Given the description of an element on the screen output the (x, y) to click on. 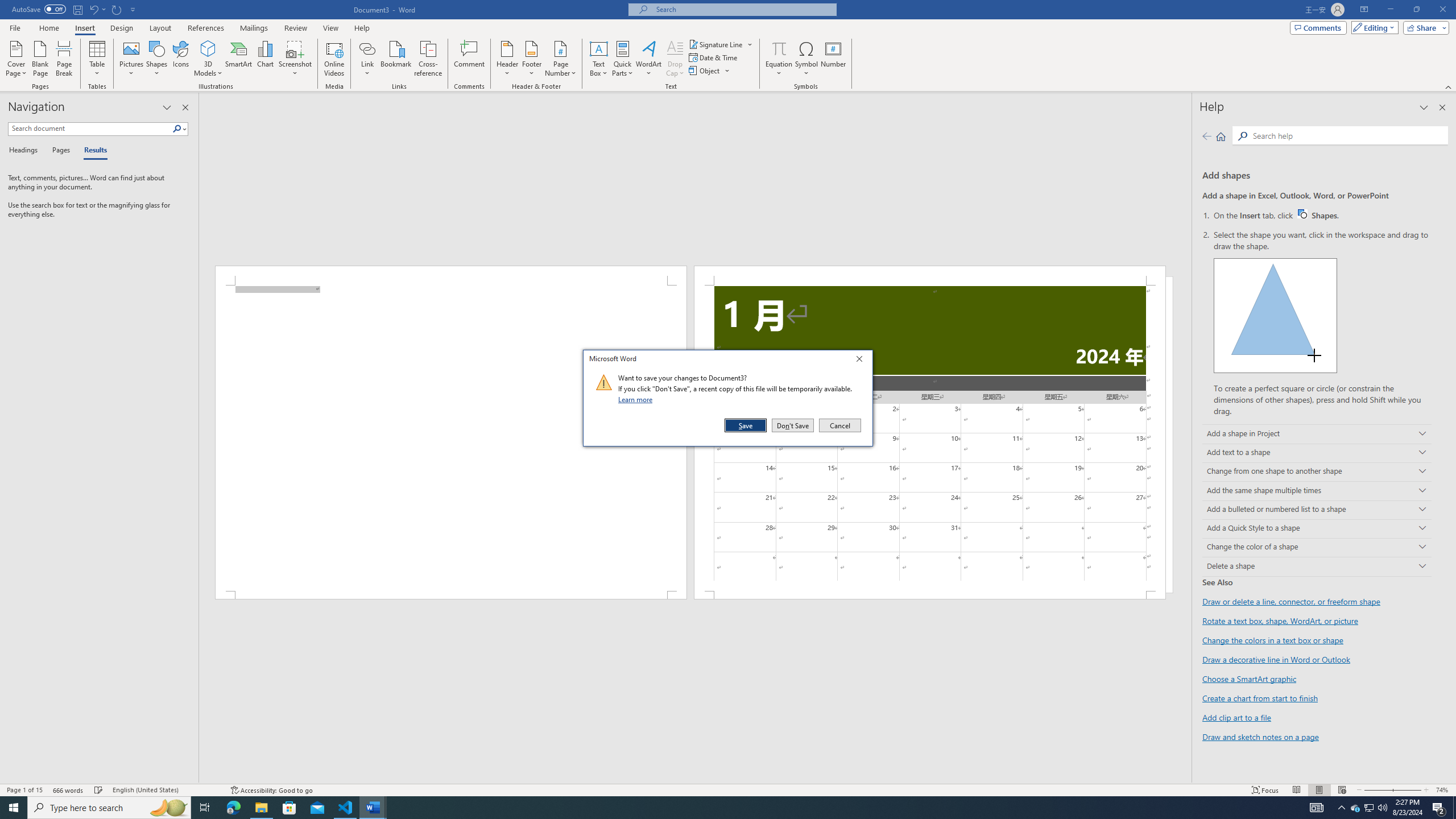
Equation (1322, 214)
Add a Quick Style to a shape (778, 48)
Don't Save (1316, 529)
Create a chart from start to finish (792, 425)
Cross-reference... (1259, 697)
Repeat Doc Close (428, 58)
Drop Cap (117, 9)
Equation (674, 58)
Link (778, 58)
Change the color of a shape (367, 48)
